Given the description of an element on the screen output the (x, y) to click on. 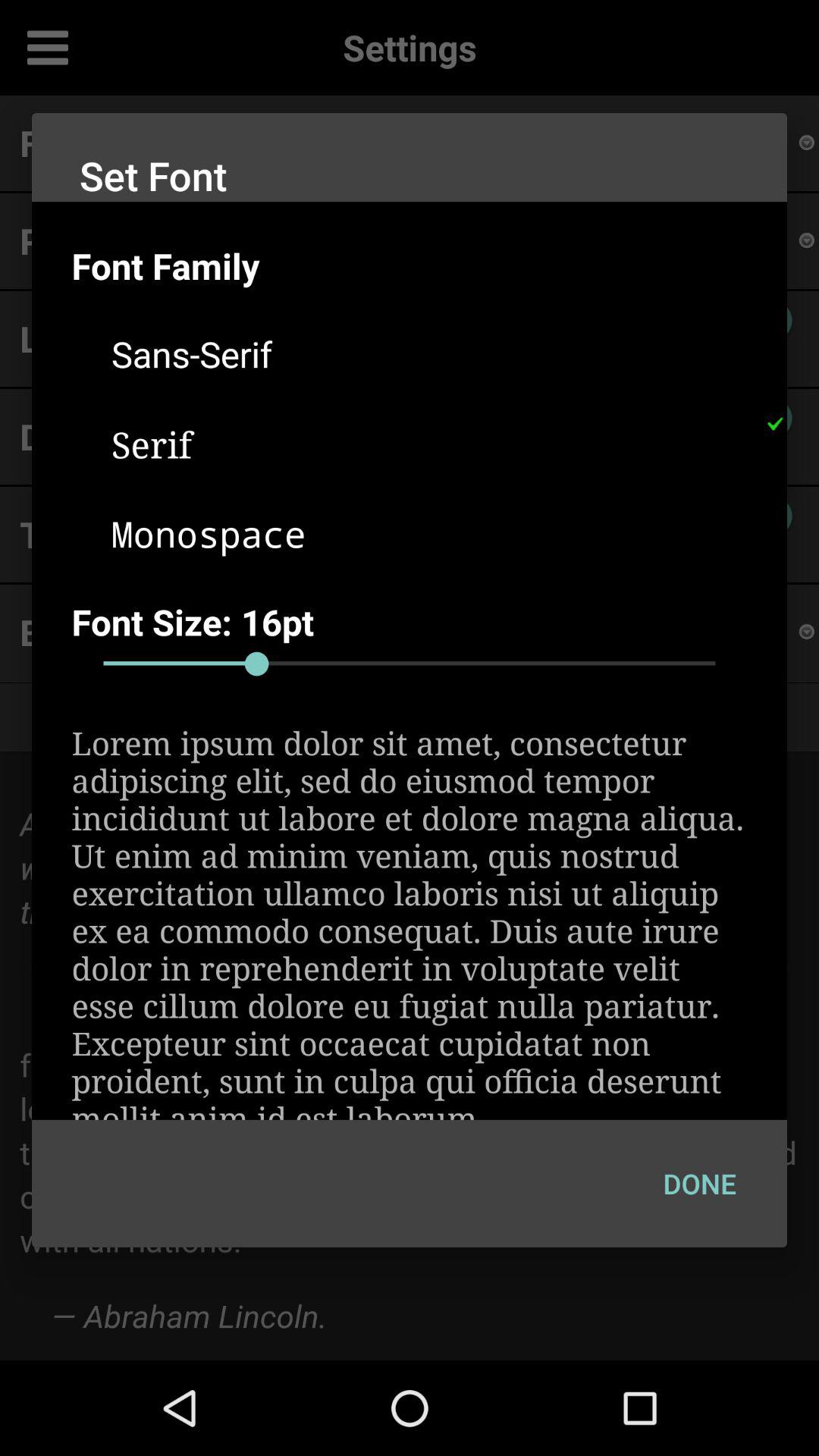
turn on the icon at the top right corner (774, 423)
